Given the description of an element on the screen output the (x, y) to click on. 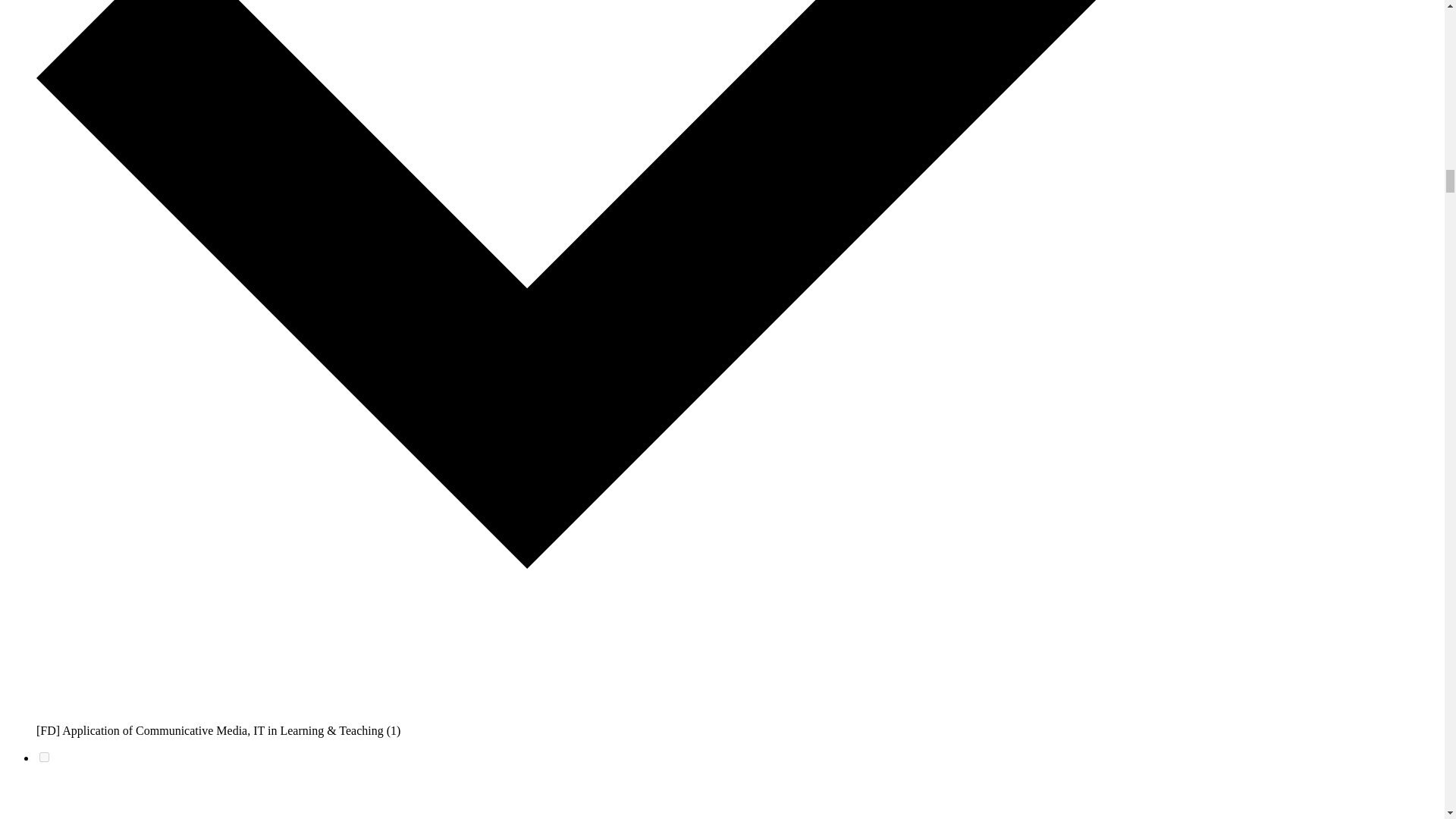
113 (44, 757)
